Given the description of an element on the screen output the (x, y) to click on. 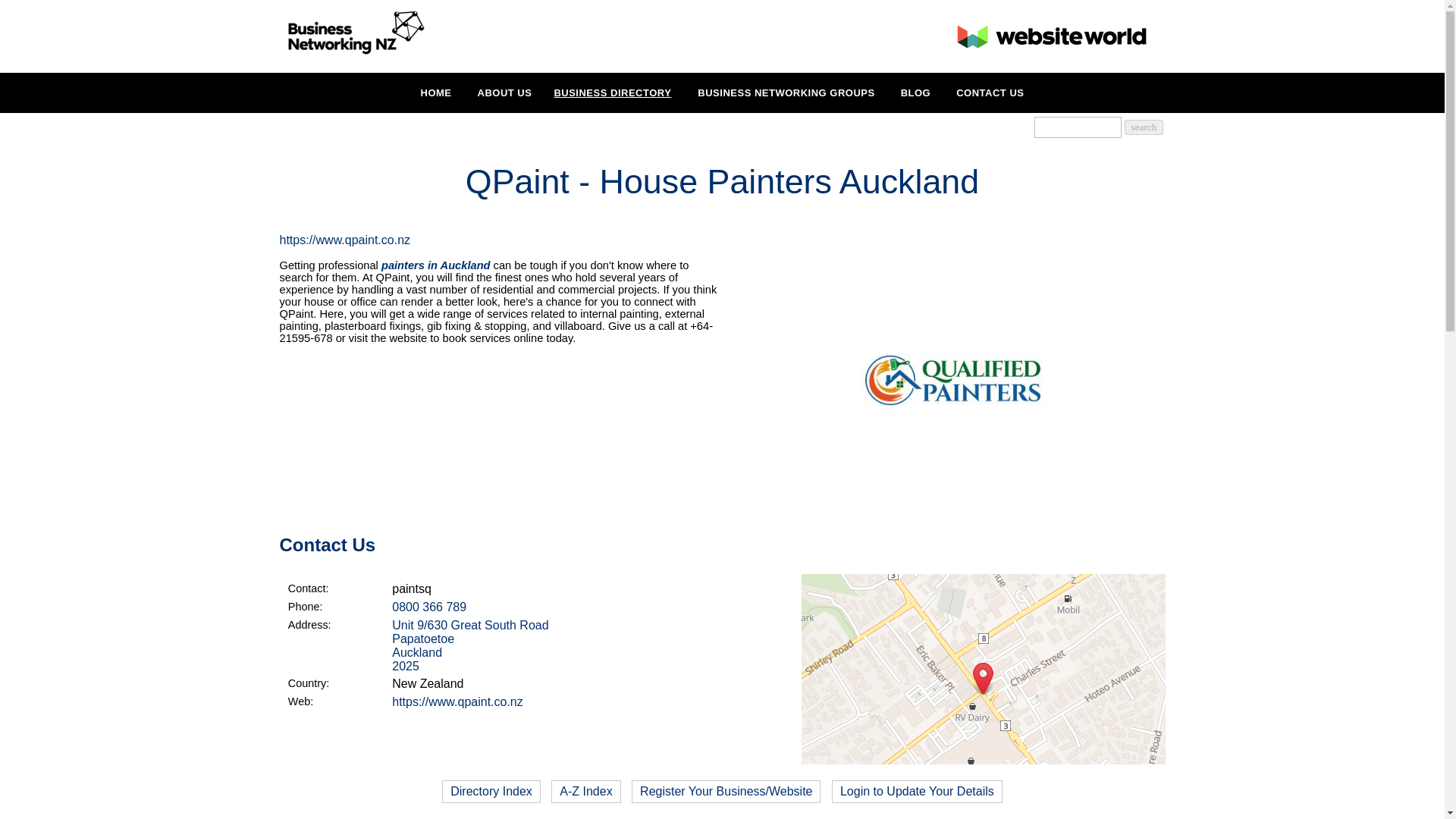
Directory Index (491, 791)
View Google Map (1126, 817)
painters in Auckland (435, 265)
BUSINESS DIRECTORY (611, 92)
BLOG (915, 92)
HOME (436, 92)
A-Z Index (585, 791)
0800 366 789 (428, 606)
search (1142, 126)
CONTACT US (989, 92)
BUSINESS NETWORKING GROUPS (785, 92)
QPaint - House Painters Auckland (952, 522)
ABOUT US (504, 92)
